Given the description of an element on the screen output the (x, y) to click on. 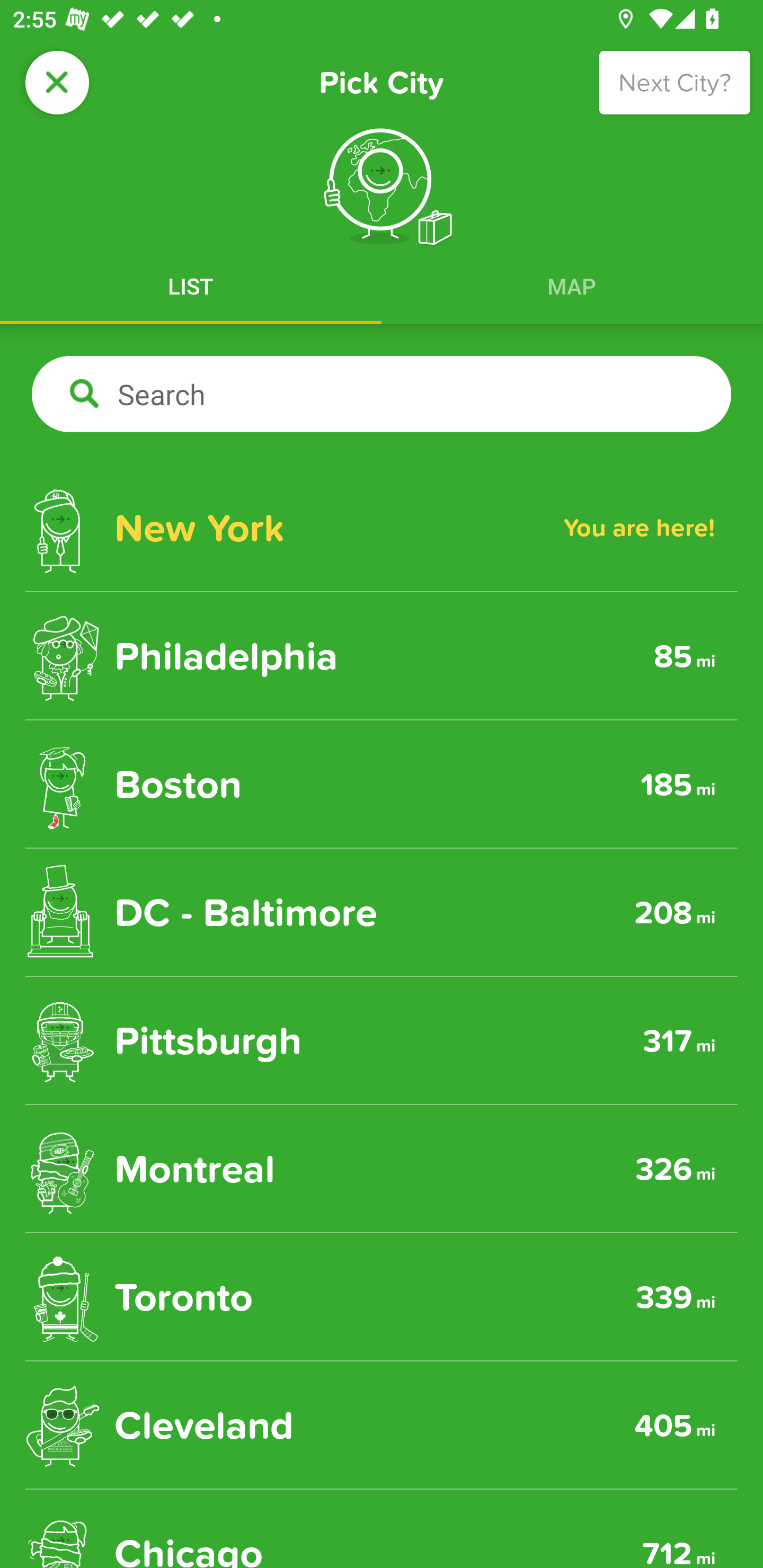
New York You are here! (381, 527)
